Given the description of an element on the screen output the (x, y) to click on. 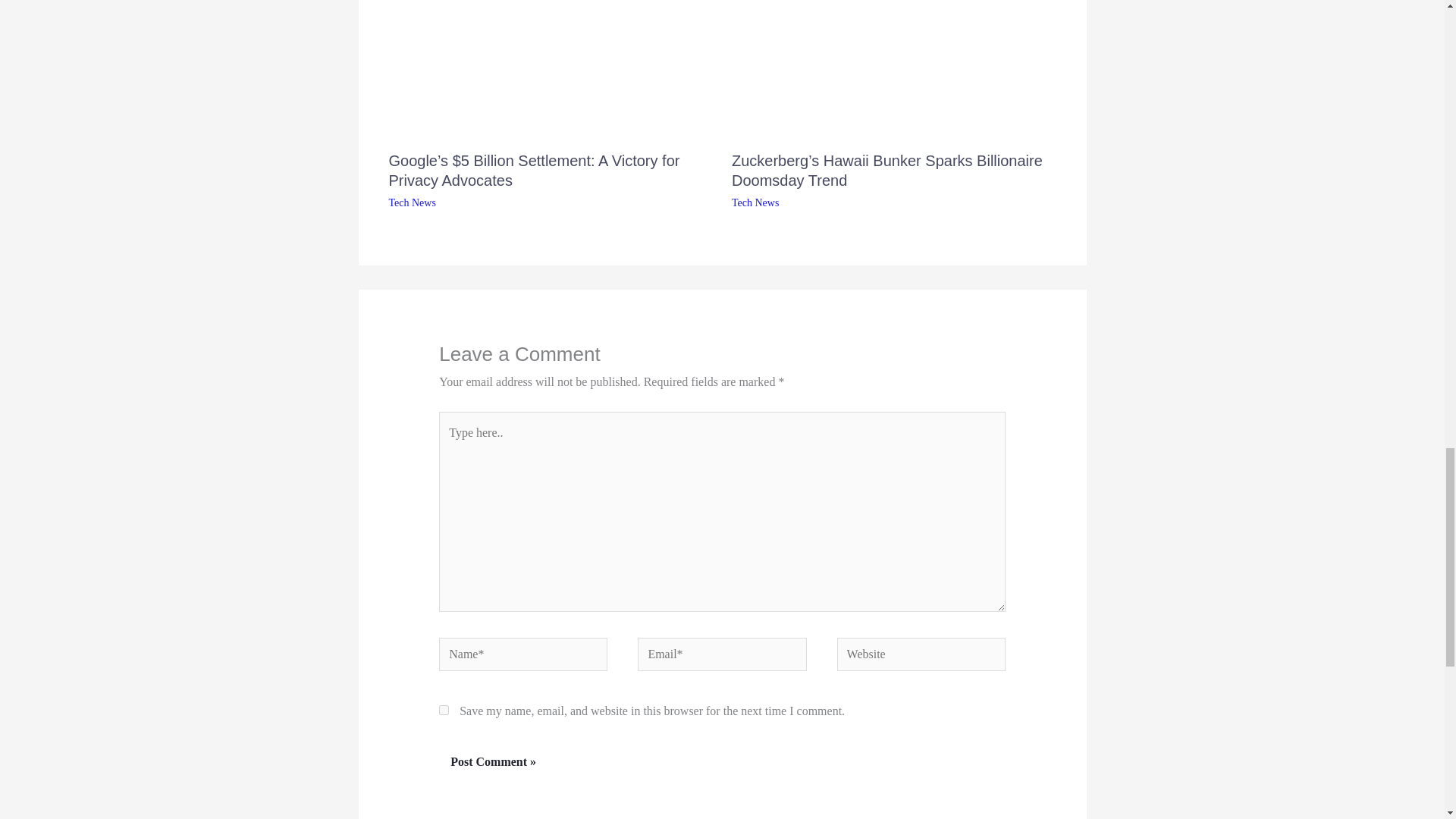
Tech News (755, 202)
Tech News (411, 202)
yes (443, 709)
